Given the description of an element on the screen output the (x, y) to click on. 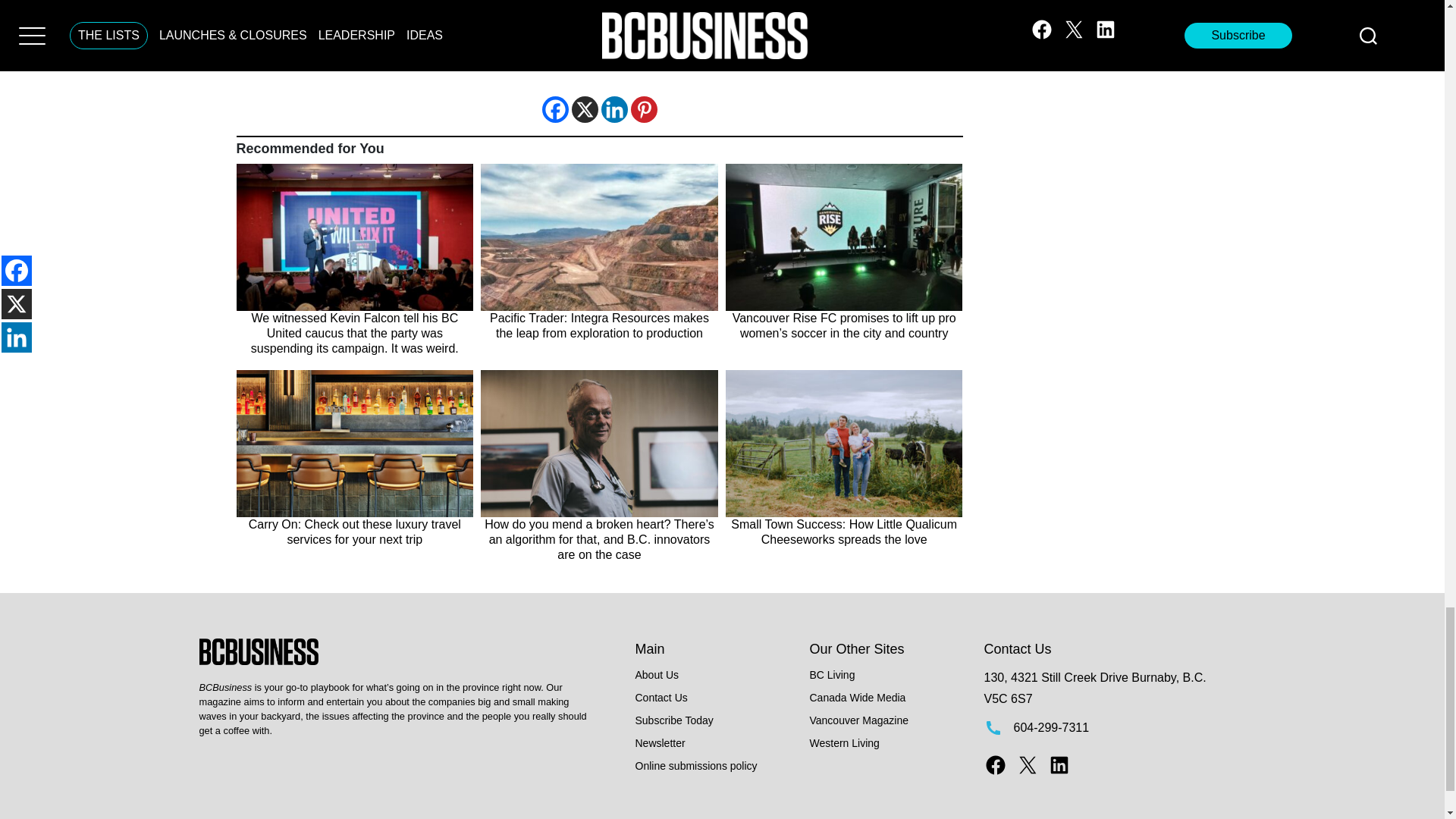
Facebook (554, 109)
Linkedin (613, 109)
Pinterest (644, 109)
X (585, 109)
